Given the description of an element on the screen output the (x, y) to click on. 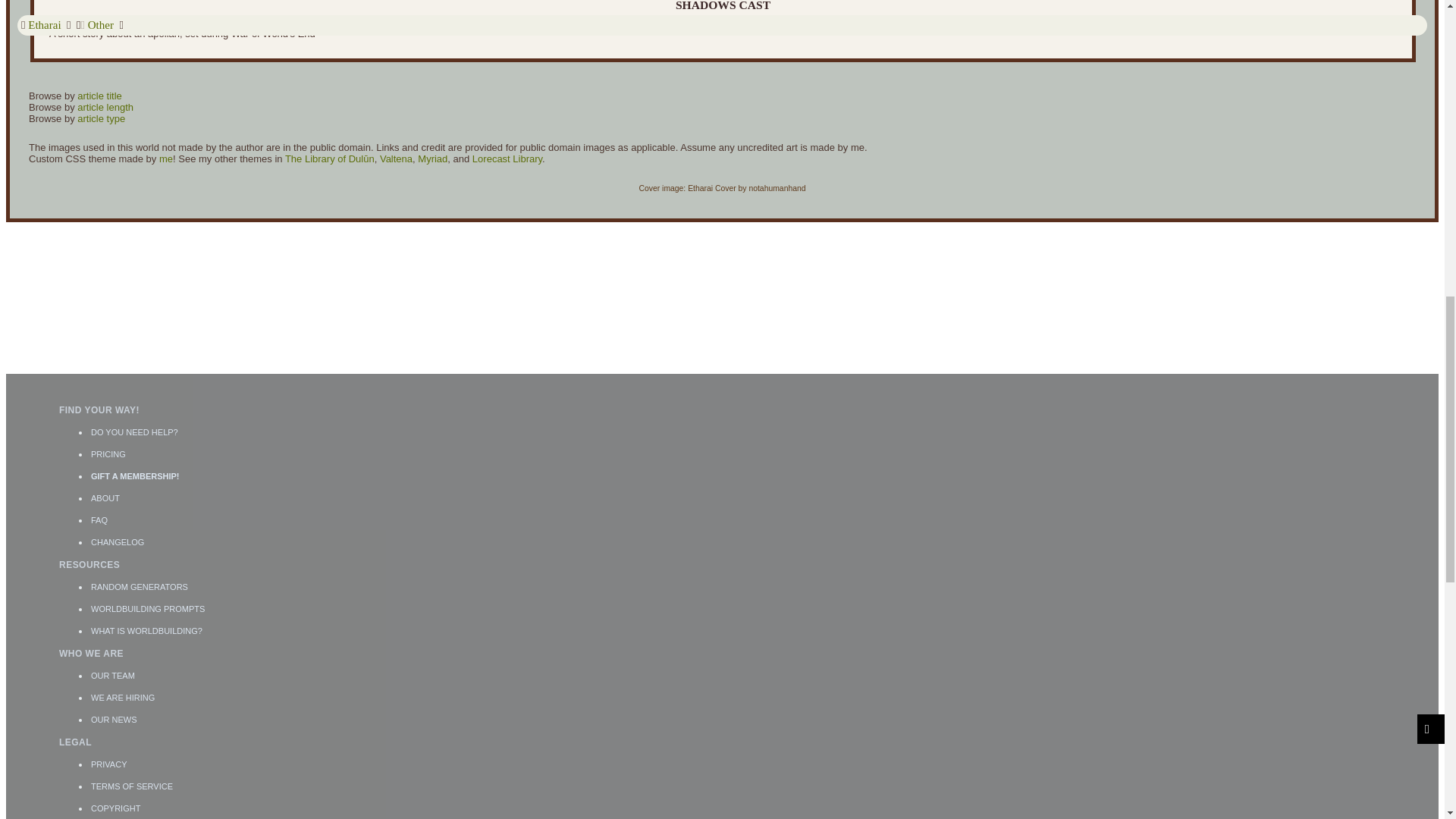
article length (105, 107)
Valtena (396, 158)
article type (101, 118)
Myriad (431, 158)
Lorecast Library (506, 158)
me (165, 158)
article title (99, 95)
